Given the description of an element on the screen output the (x, y) to click on. 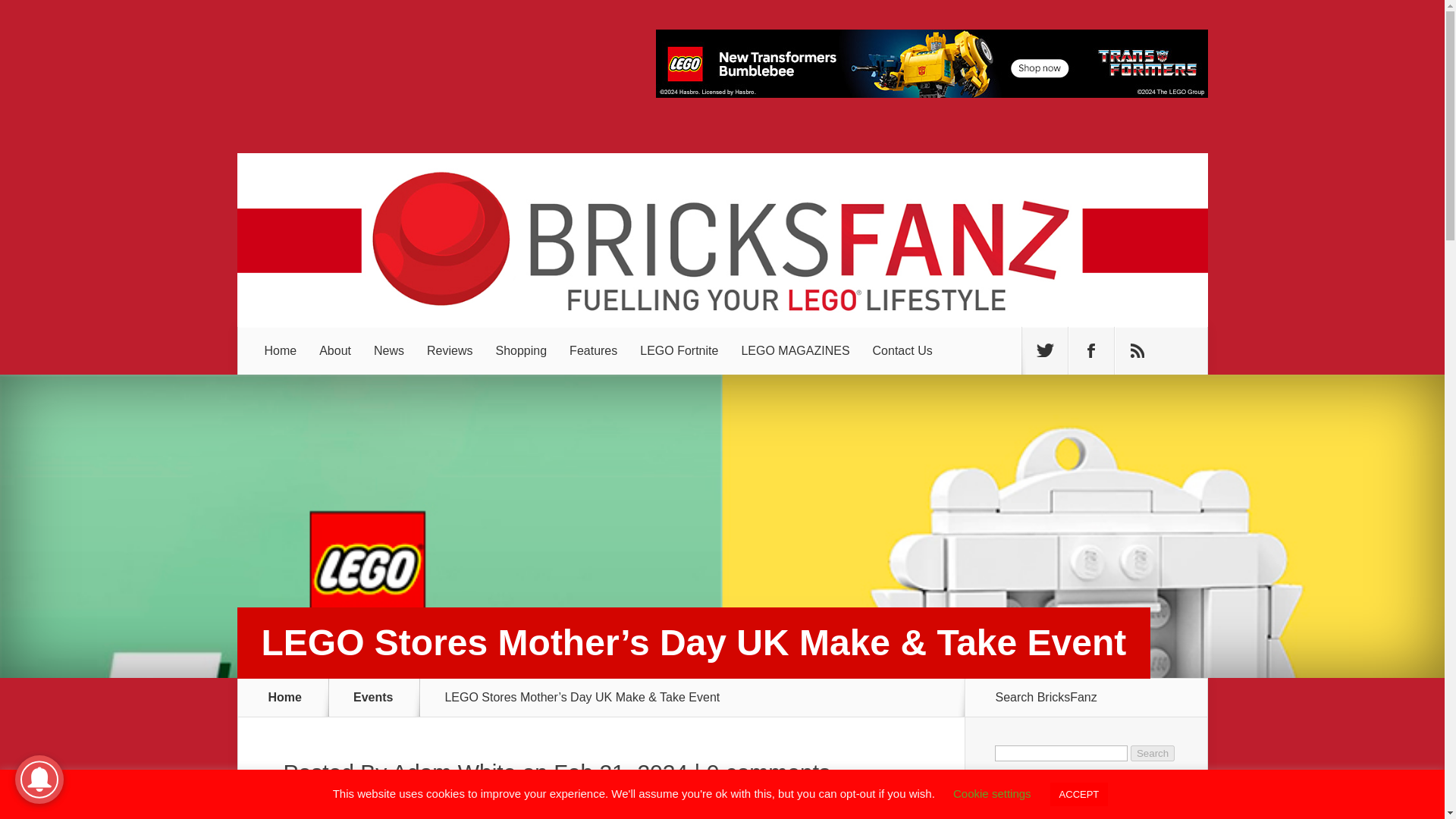
Features (592, 350)
Subscribe To Rss Feed (1137, 350)
Follow us on Twitter (1044, 350)
Search (1152, 753)
Search (1152, 753)
Home (280, 350)
Shopping (520, 350)
Posts by Adam White (453, 772)
Adam White (453, 772)
0 comments (767, 772)
Contact Us (902, 350)
Follow us on Facebook (1090, 350)
About (334, 350)
News (388, 350)
LEGO MAGAZINES (794, 350)
